Given the description of an element on the screen output the (x, y) to click on. 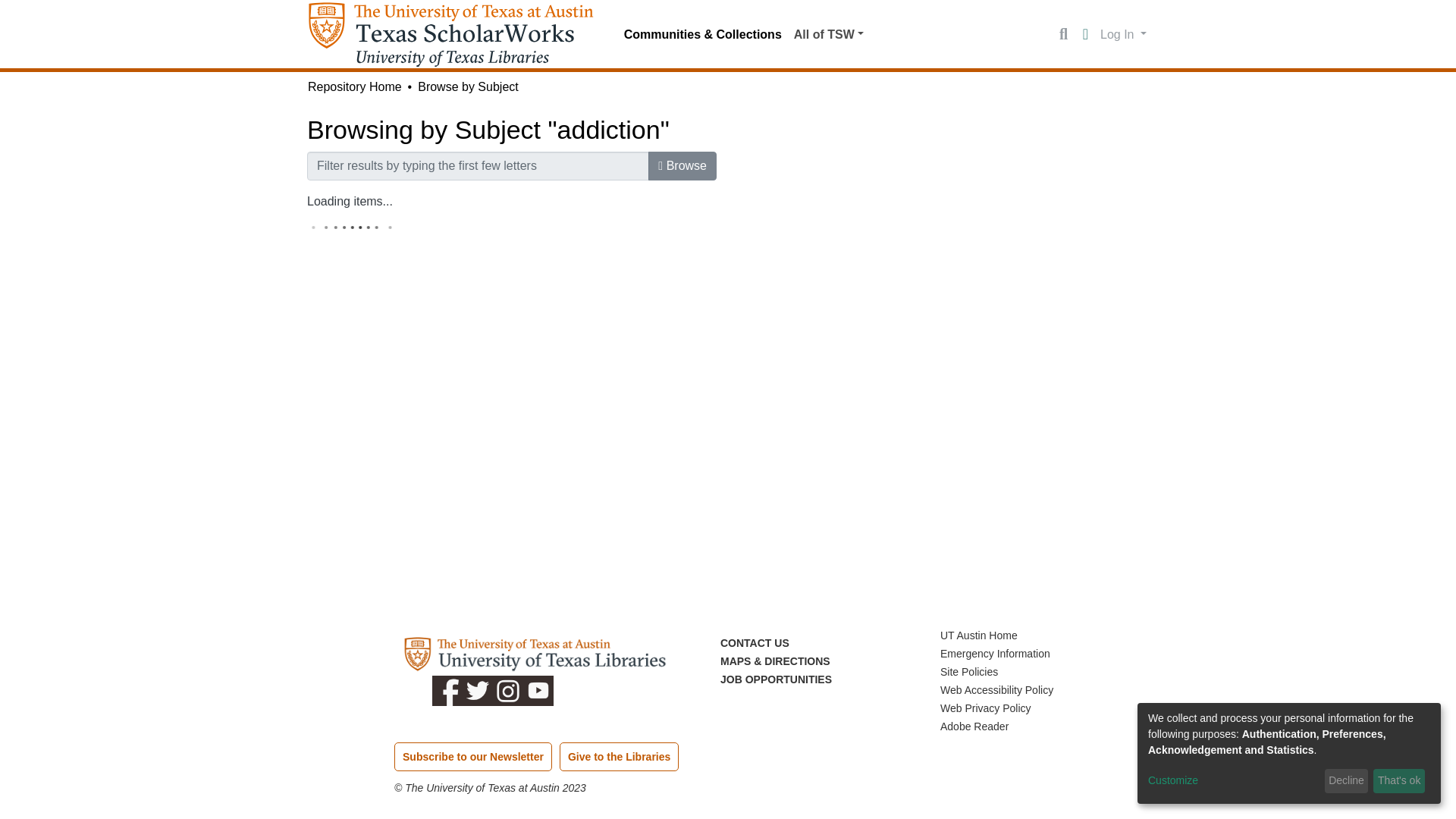
UT Austin Home (978, 635)
Give to the Libraries (618, 756)
CONTACT US (754, 643)
Emergency Information (994, 653)
JOB OPPORTUNITIES (775, 679)
Language switch (1084, 34)
Customize (1233, 780)
Web Privacy Policy (985, 707)
Decline (1346, 781)
Web Accessibility Policy (996, 689)
Repository Home (354, 86)
Browse (681, 165)
That's ok (1399, 781)
All of TSW (828, 34)
Subscribe to our Newsletter (472, 756)
